Given the description of an element on the screen output the (x, y) to click on. 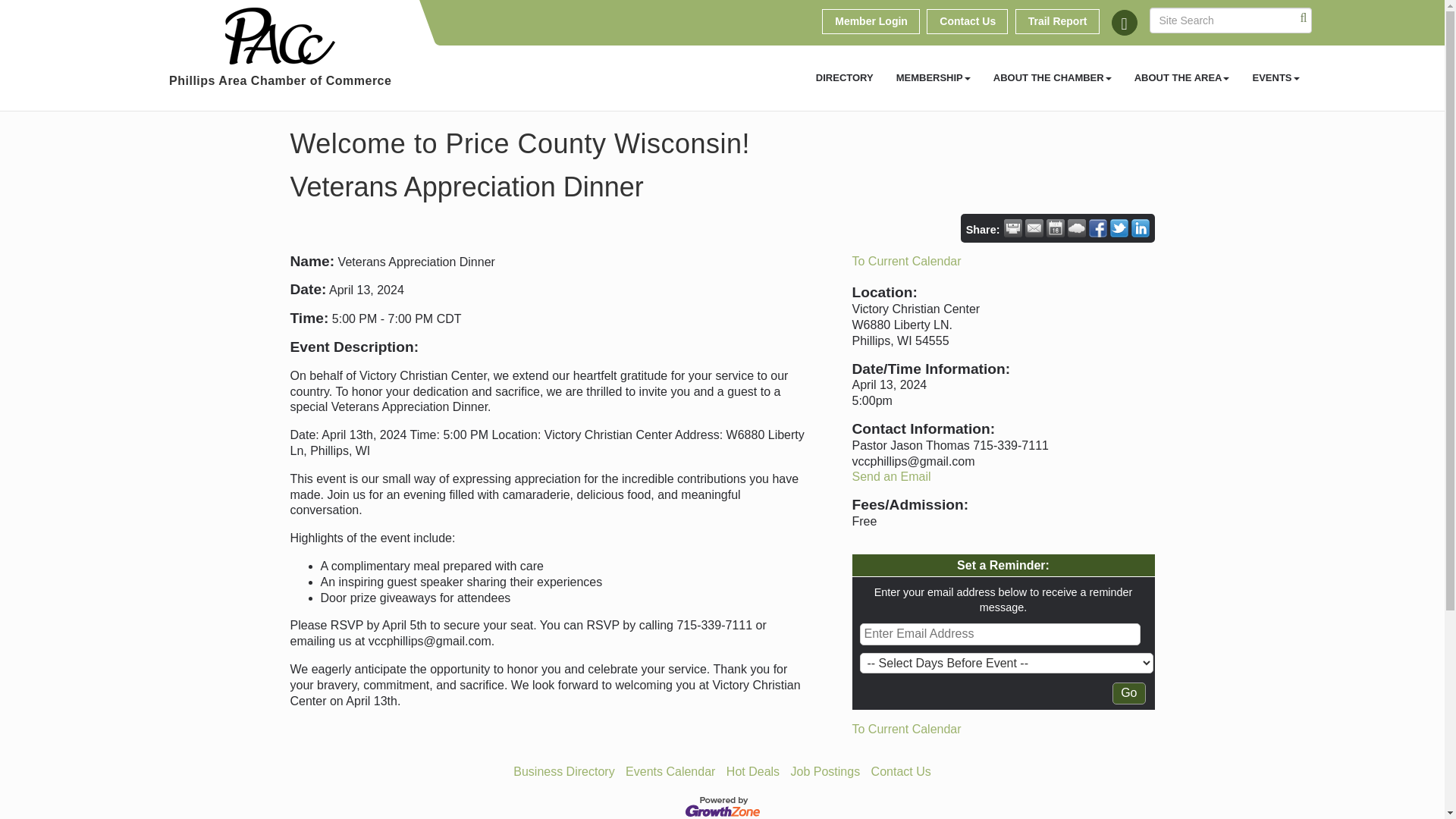
Share on Twitter (1118, 228)
ABOUT THE AREA (1181, 77)
View Current Weather (1076, 228)
Print this Page (1013, 228)
Share on LinkedIn (1140, 228)
DIRECTORY (845, 77)
Share on Facebook (1097, 228)
Trail Report (1056, 21)
Member Login (871, 21)
ABOUT THE CHAMBER (1051, 77)
MEMBERSHIP (933, 77)
Email to a Friend (1034, 228)
EVENTS (1275, 77)
Go (1128, 693)
Icon Link (1124, 22)
